Given the description of an element on the screen output the (x, y) to click on. 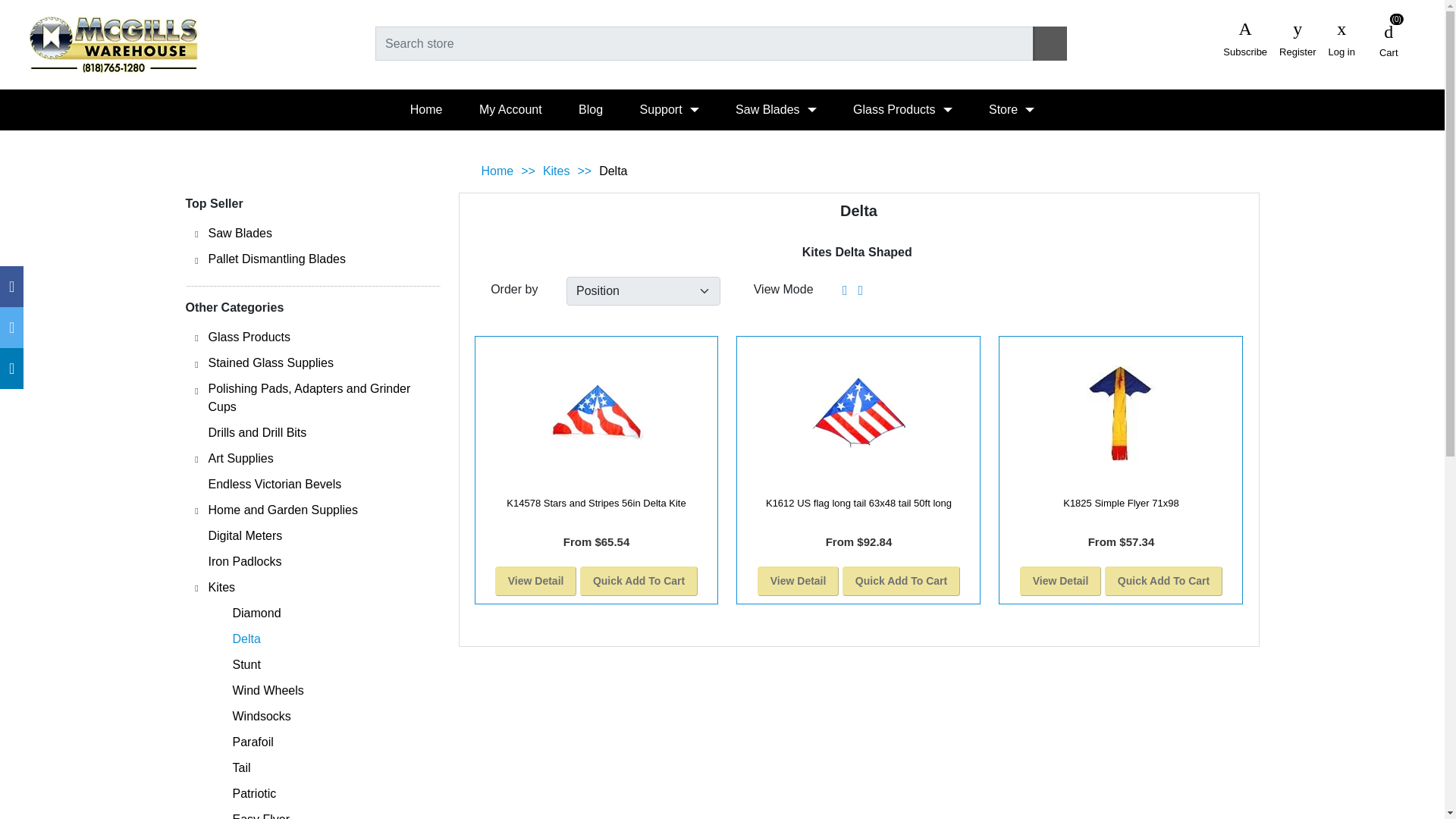
Show details for K1825  Simple Flyer 71x98  (1121, 412)
Support (669, 109)
Blog (591, 109)
My Account (511, 109)
Store (1011, 109)
Show details for K1825  Simple Flyer 71x98  (1119, 413)
Saw Blades (775, 109)
Show details for K14578  Stars and Stripes 56in Delta Kite (595, 412)
Kites (556, 170)
Cart (1388, 39)
Home (496, 170)
Glass Products (901, 109)
Search (1049, 43)
Home (426, 109)
